Given the description of an element on the screen output the (x, y) to click on. 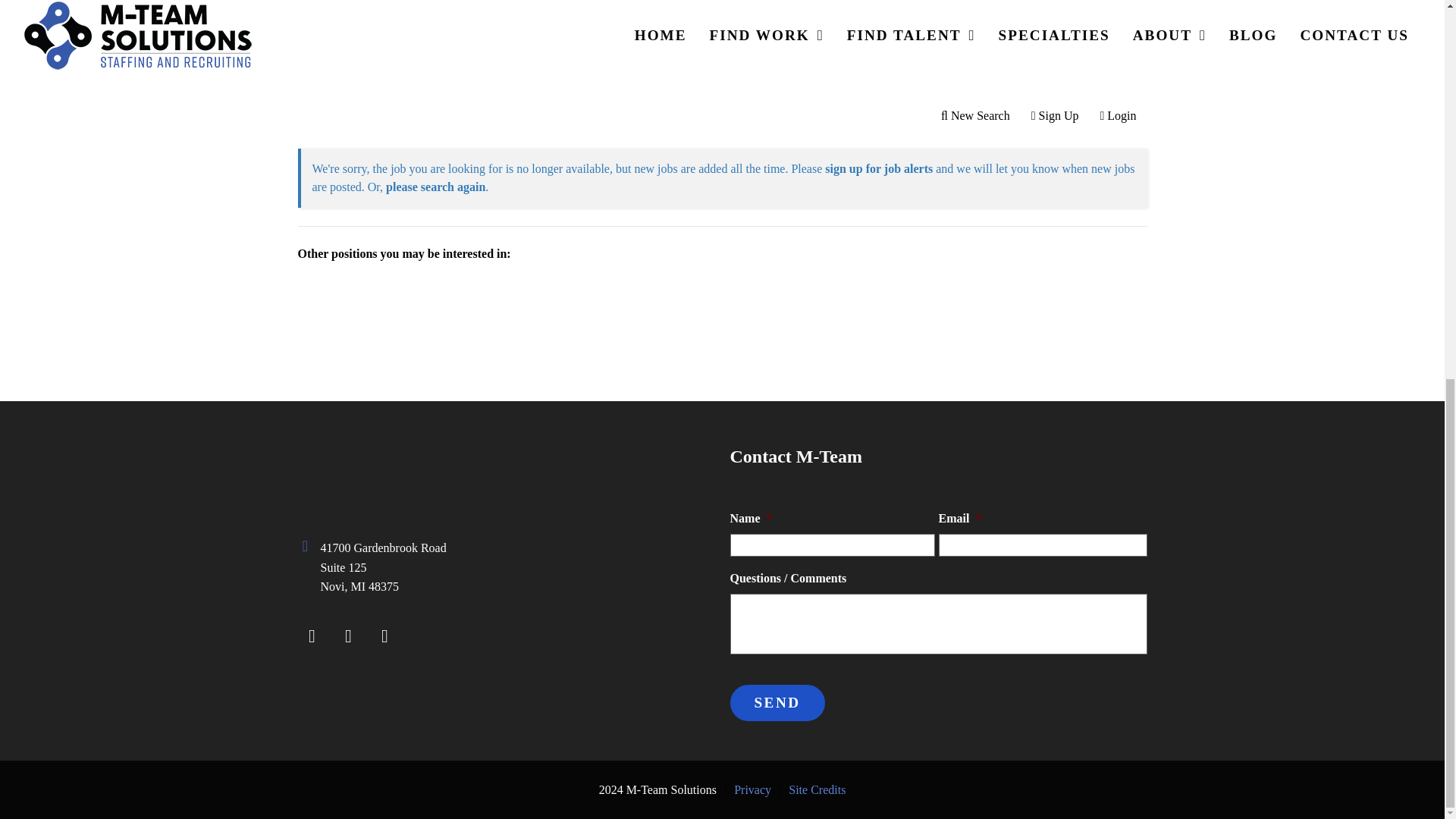
Follow M-Team Solutions, LLC on Twitter (347, 635)
Send (776, 702)
Follow M-Team Solutions, LLC on Facebook (311, 635)
Connect with M-Team Solutions, LLC on LinkedIn (383, 635)
